Given the description of an element on the screen output the (x, y) to click on. 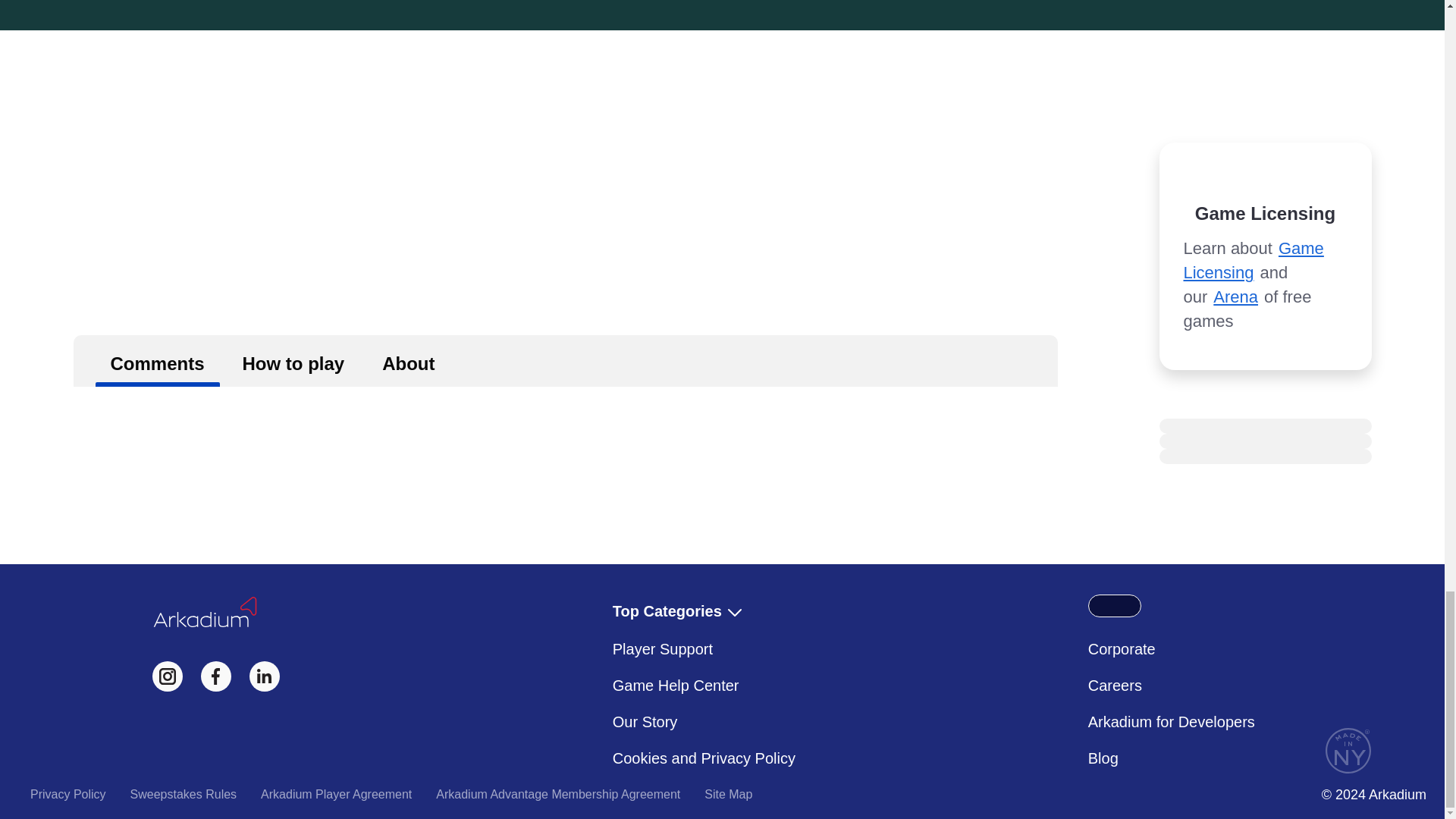
'Made in NY' logo (1347, 750)
Arena (1234, 296)
Comments (157, 360)
Game Licensing (1252, 260)
How to play (293, 360)
About (407, 360)
